Given the description of an element on the screen output the (x, y) to click on. 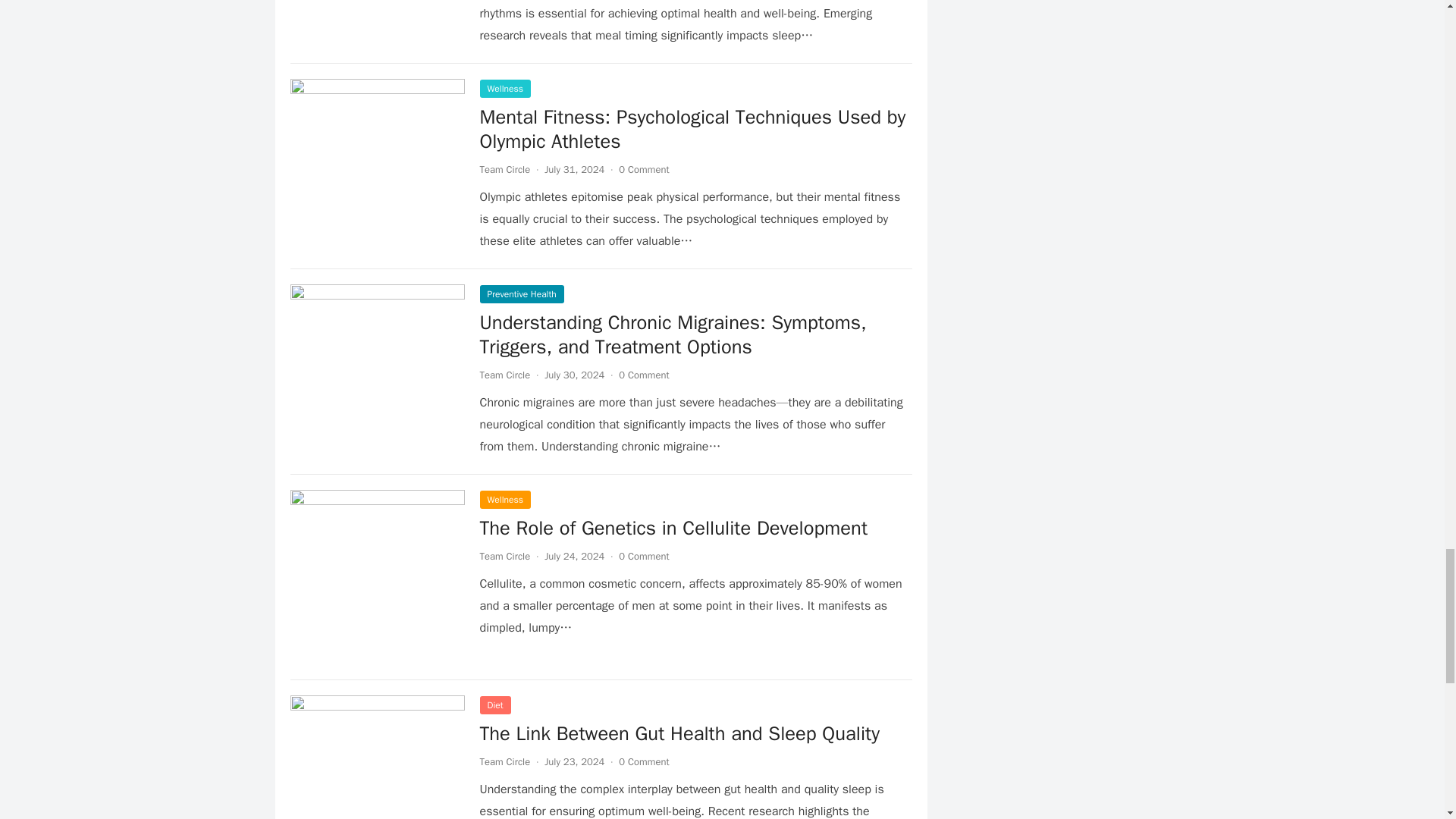
Posts by Team Circle (504, 555)
Posts by Team Circle (504, 169)
Posts by Team Circle (504, 761)
Posts by Team Circle (504, 374)
